Given the description of an element on the screen output the (x, y) to click on. 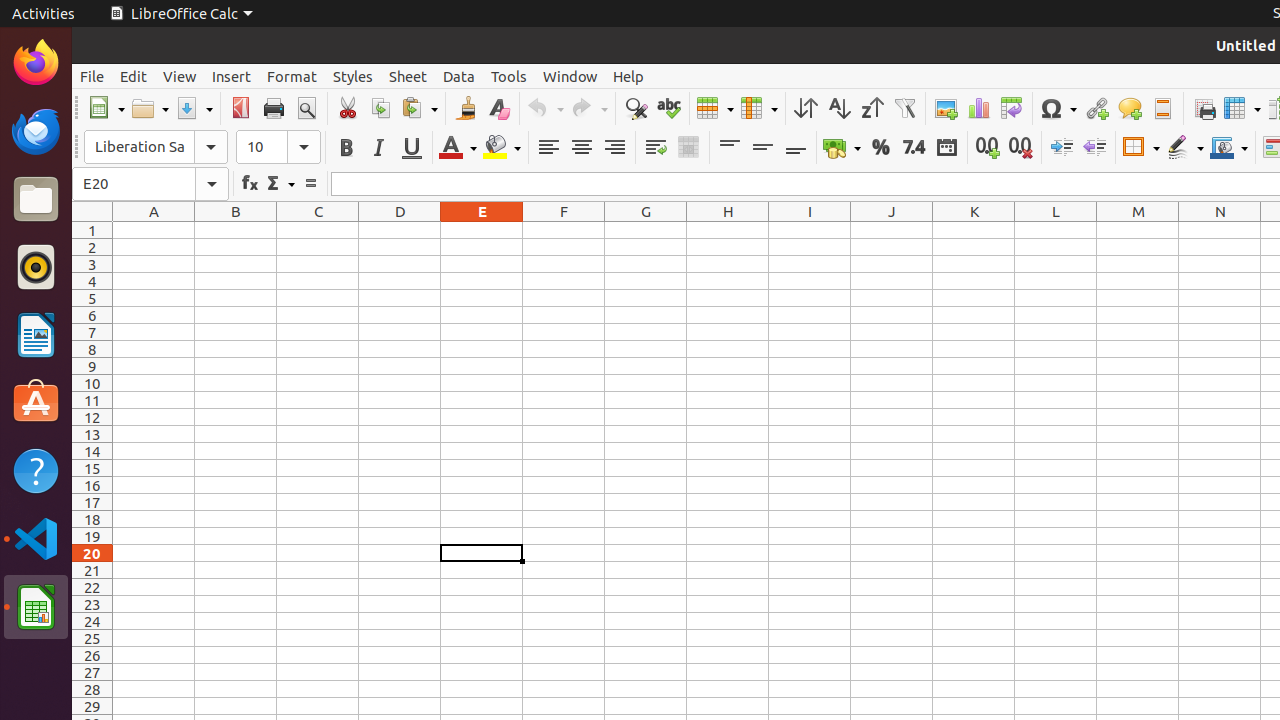
Function Wizard Element type: push-button (249, 183)
Headers and Footers Element type: push-button (1162, 108)
Find & Replace Element type: toggle-button (635, 108)
Percent Element type: push-button (880, 147)
Window Element type: menu (570, 76)
